Given the description of an element on the screen output the (x, y) to click on. 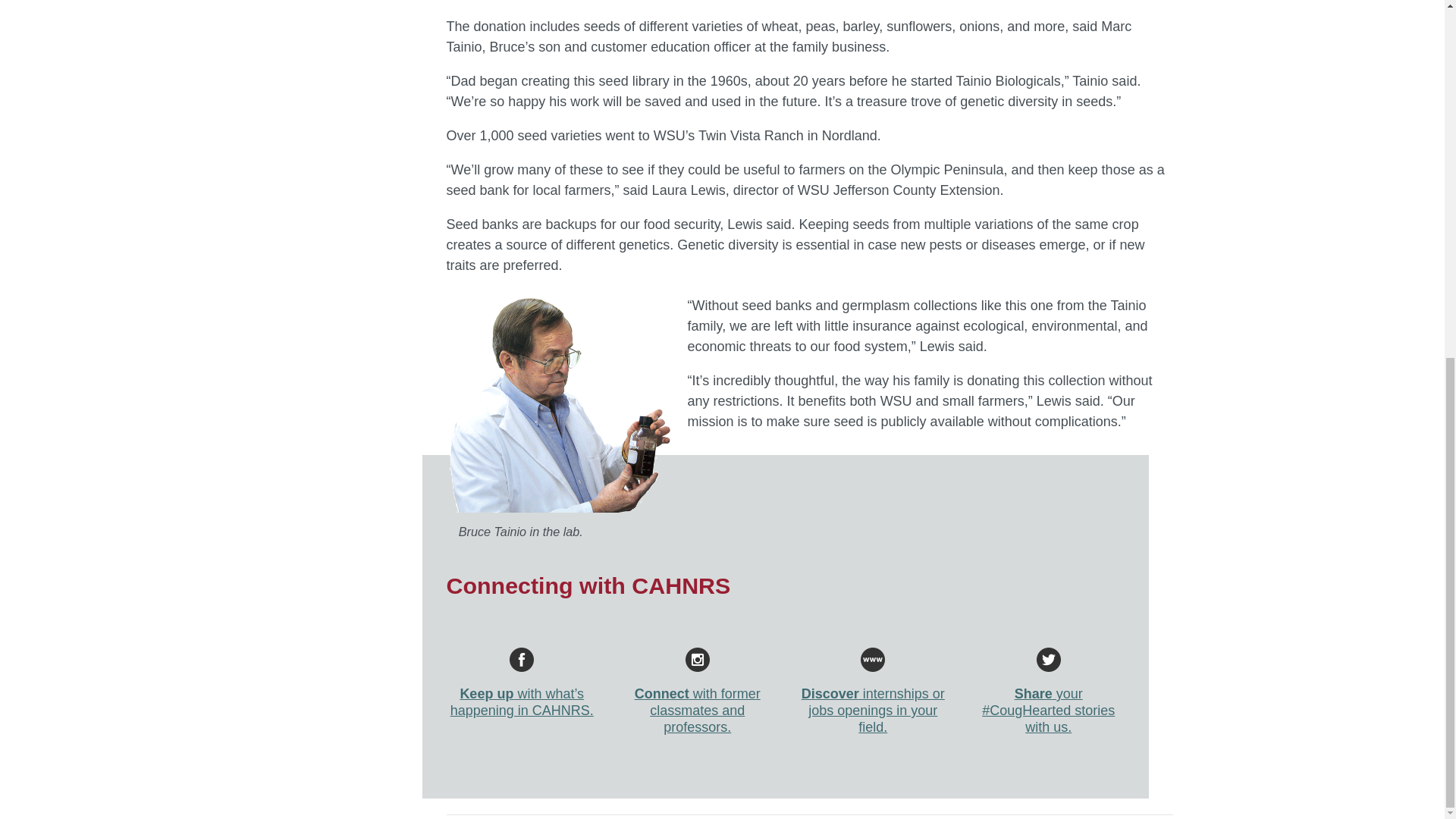
Discover internships or jobs openings in your field. (873, 690)
Connect with former classmates and professors. (697, 690)
